Given the description of an element on the screen output the (x, y) to click on. 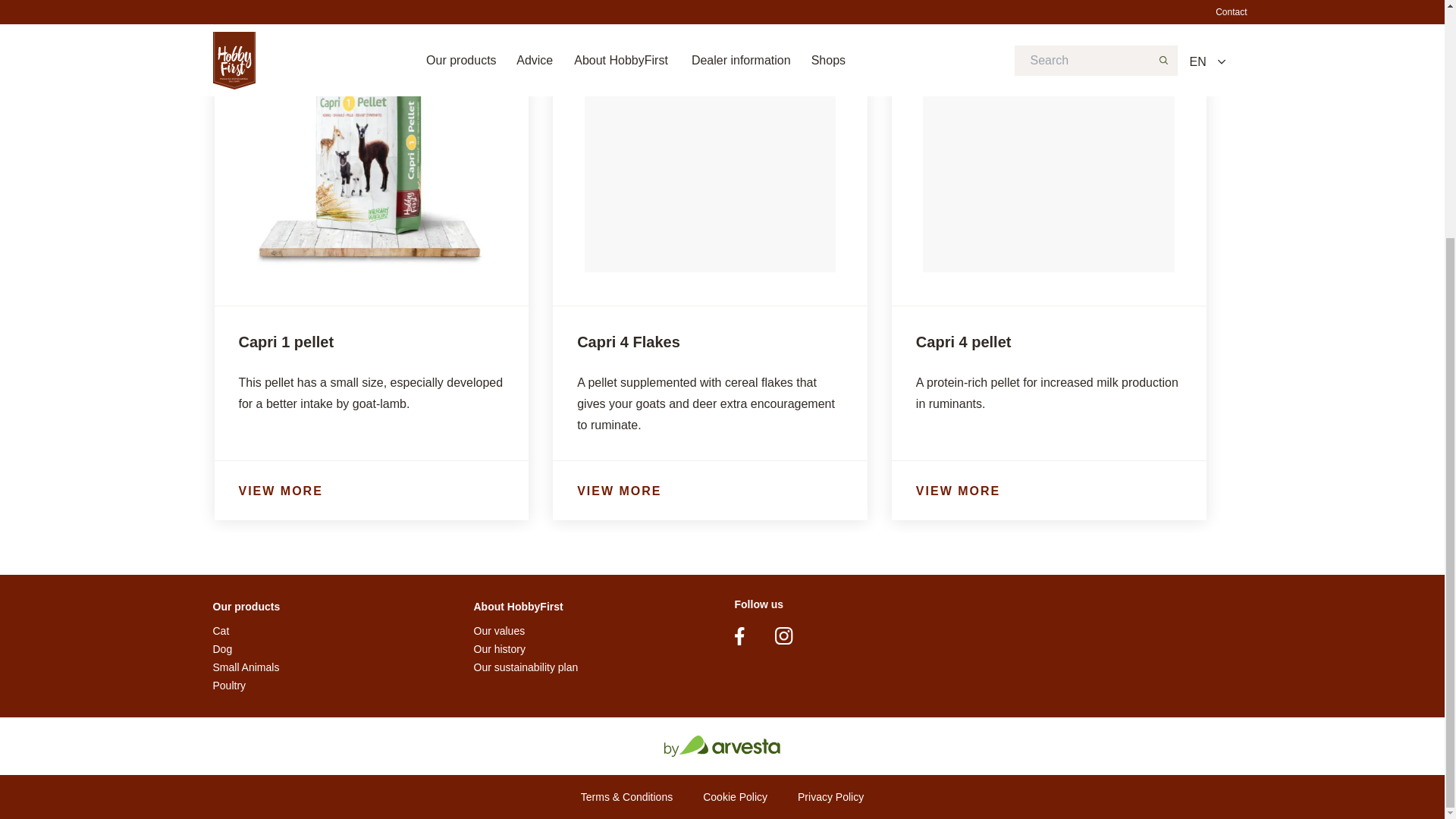
Our values (498, 630)
Capri 1 pellet (285, 341)
Cookie Policy (735, 796)
Privacy Policy (830, 796)
Privacy Policy (830, 796)
Small Animals (245, 666)
Our sustainability plan (525, 666)
VIEW MORE (1048, 490)
Capri 4 Flakes (627, 341)
Capri 4 pellet (963, 341)
